Given the description of an element on the screen output the (x, y) to click on. 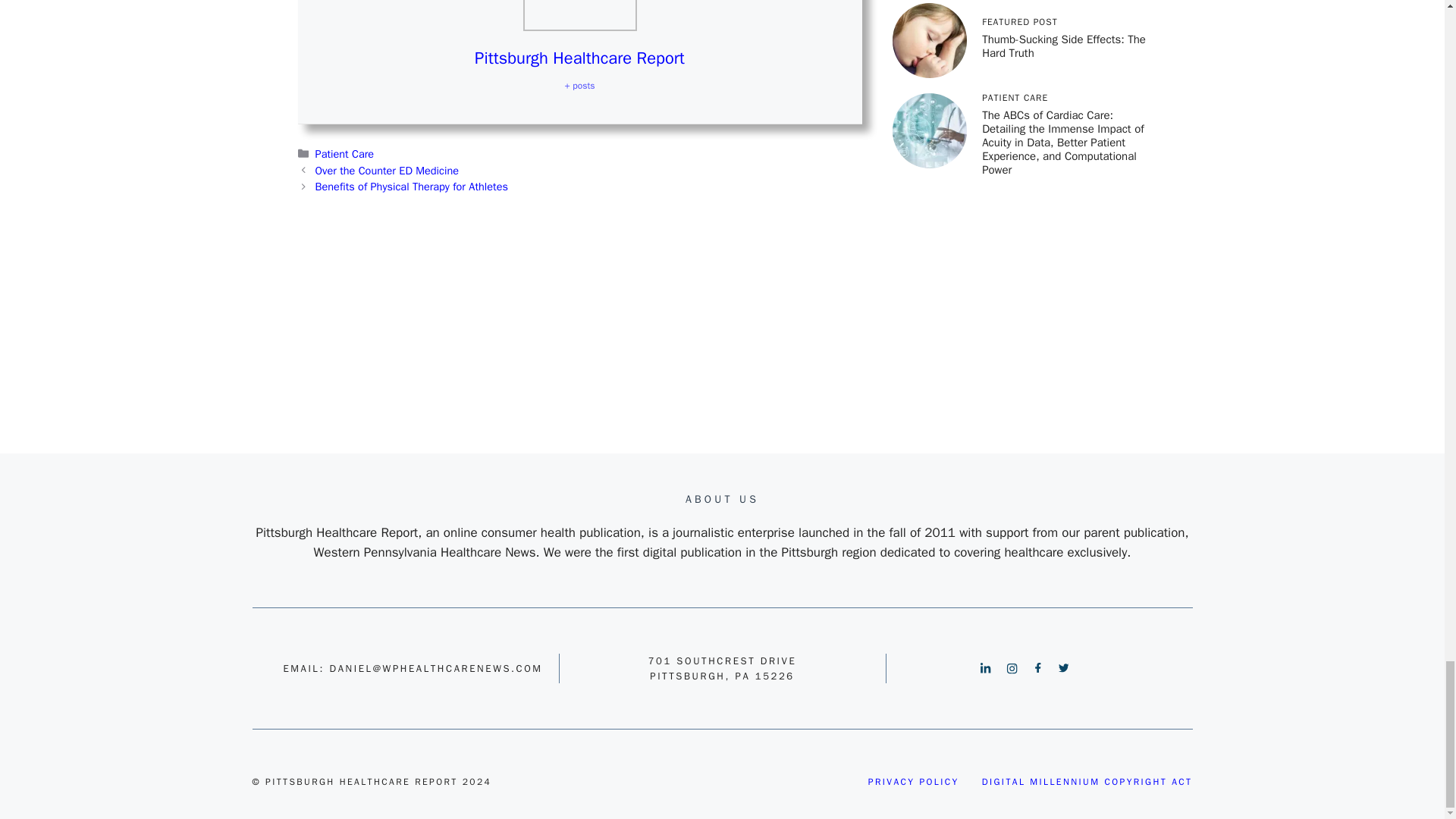
Pittsburgh Healthcare Report (579, 57)
Patient Care (344, 153)
Over the Counter ED Medicine (386, 170)
Benefits of Physical Therapy for Athletes (411, 186)
What Does Chiropractic Care Help With? 1 (579, 15)
